Given the description of an element on the screen output the (x, y) to click on. 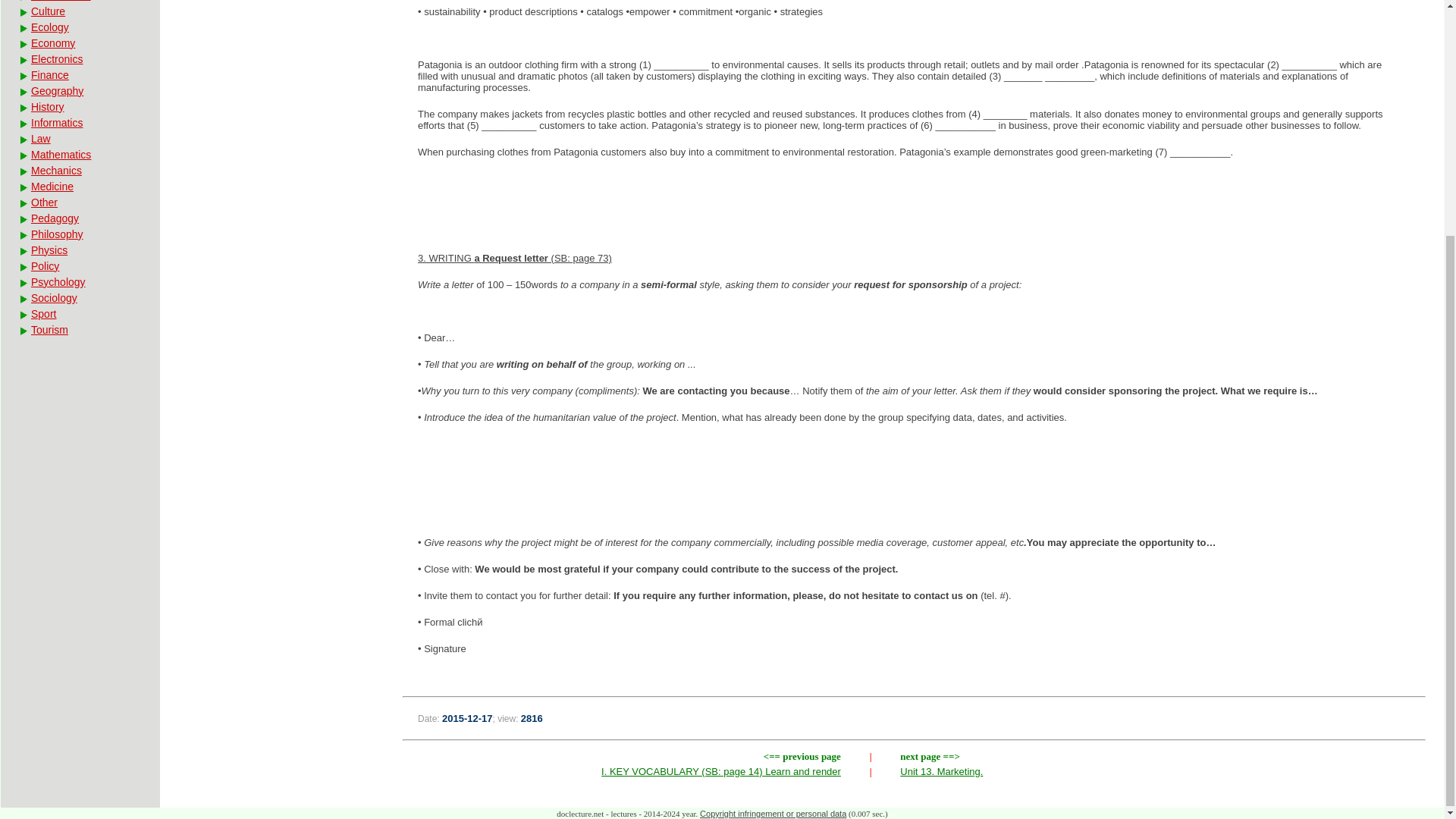
Mechanics (79, 170)
Copyright infringement or personal data (772, 813)
Tourism (79, 329)
Unit 13. Marketing. (940, 771)
Geography (79, 90)
Finance (79, 74)
Mathematics (79, 154)
Medicine (79, 186)
Psychology (79, 282)
Informatics (79, 122)
Advertisement (915, 484)
Policy (79, 265)
Pedagogy (79, 218)
Economy (79, 42)
Ecology (79, 27)
